Given the description of an element on the screen output the (x, y) to click on. 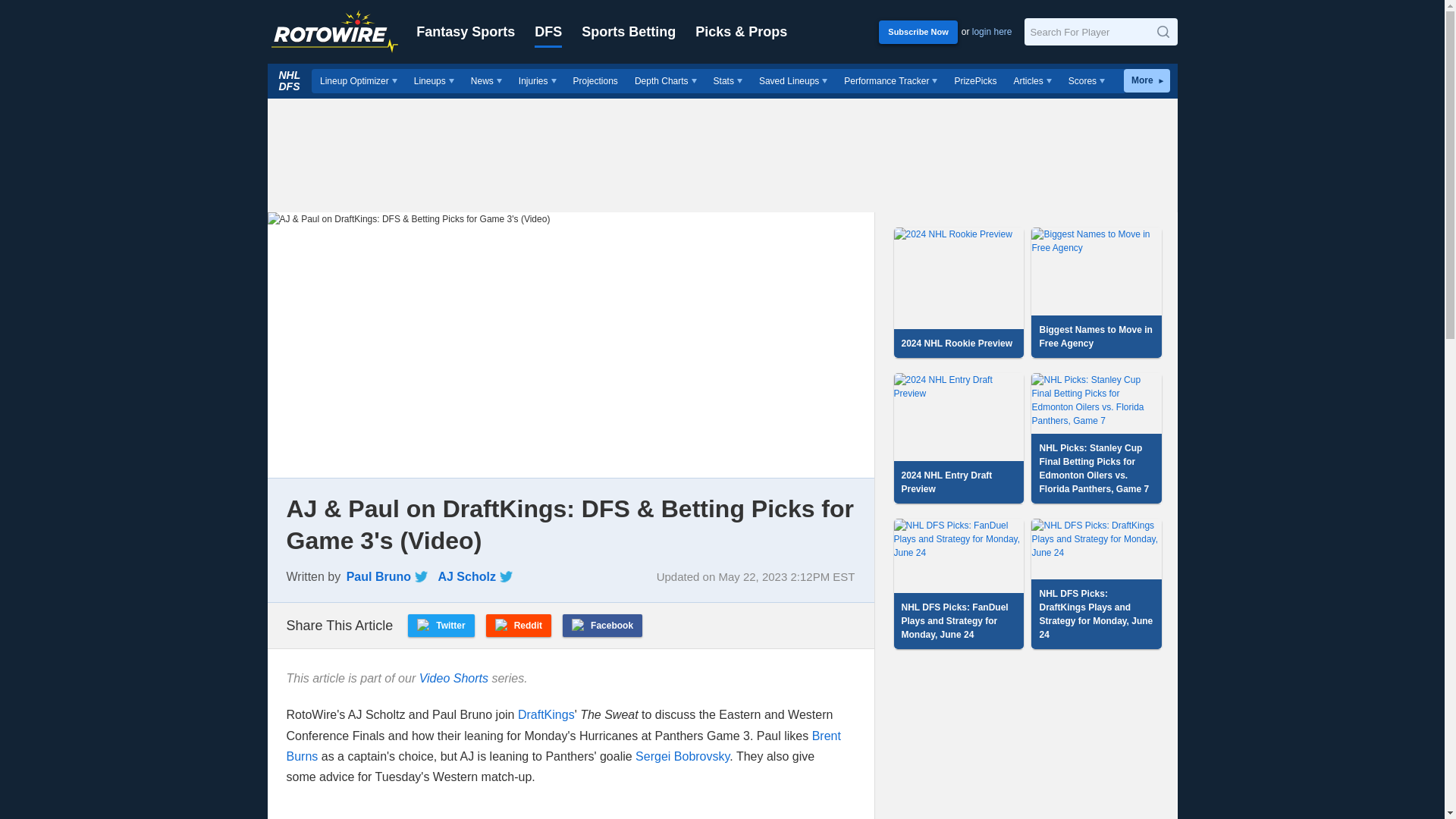
PrizePicks (974, 80)
login here (991, 31)
Fantasy Sports (465, 31)
Subscribe Now (917, 31)
Projections (595, 80)
PrizePicks (974, 80)
More (1147, 80)
Sports Betting (627, 31)
NHL DFS (290, 80)
NHL Daily Projections (595, 80)
